Given the description of an element on the screen output the (x, y) to click on. 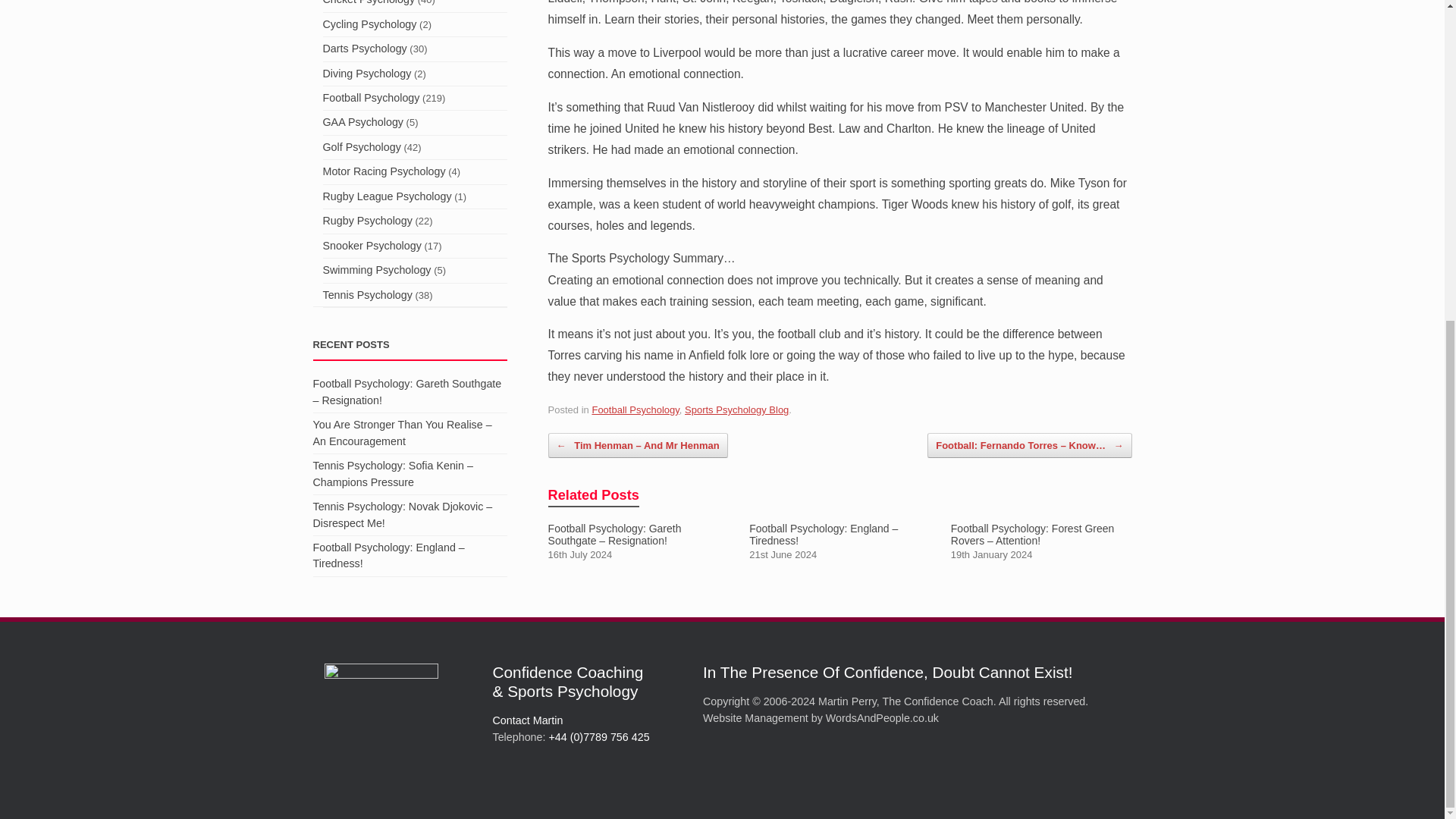
Football Psychology (634, 409)
Sports Psychology Blog (736, 409)
Gold foil texture background (381, 720)
